Given the description of an element on the screen output the (x, y) to click on. 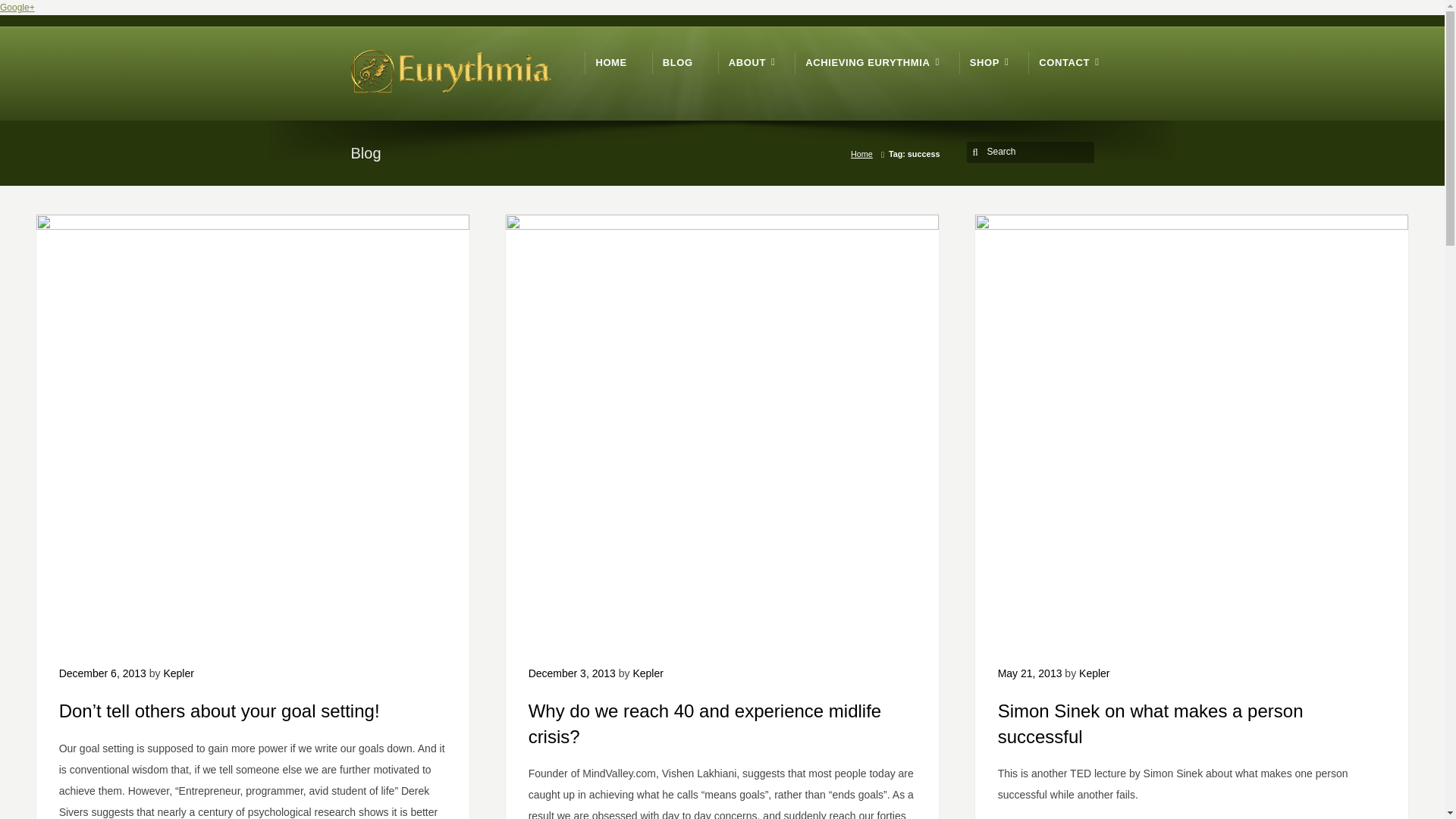
ABOUT (749, 62)
Posts by Kepler (178, 673)
Home (610, 62)
HOME (610, 62)
CONTACT (1066, 62)
Home (864, 153)
SHOP (986, 62)
Posts by Kepler (1093, 673)
Posts by Kepler (646, 673)
BLOG (677, 62)
